Given the description of an element on the screen output the (x, y) to click on. 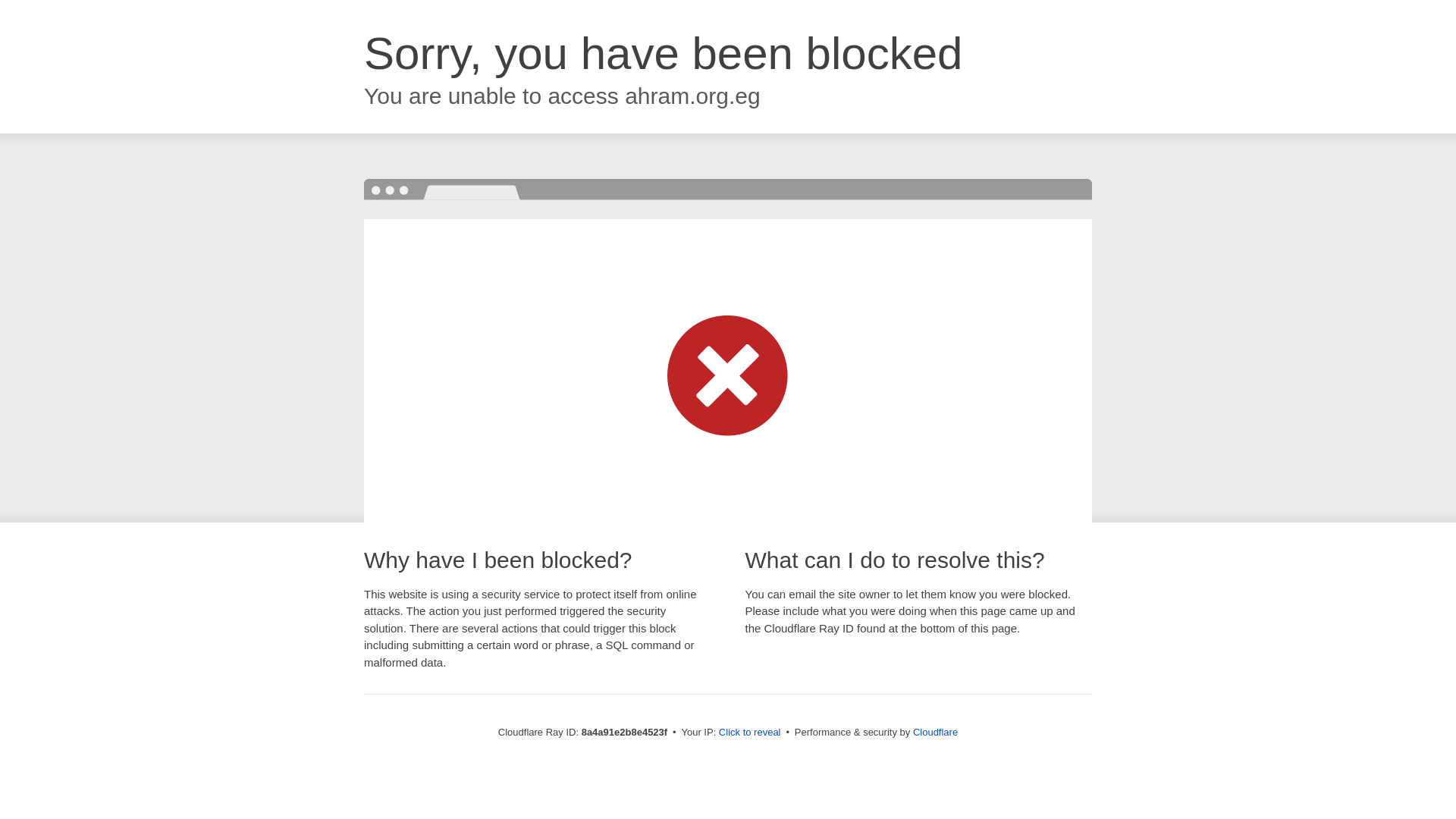
Cloudflare (935, 731)
Click to reveal (749, 732)
